Given the description of an element on the screen output the (x, y) to click on. 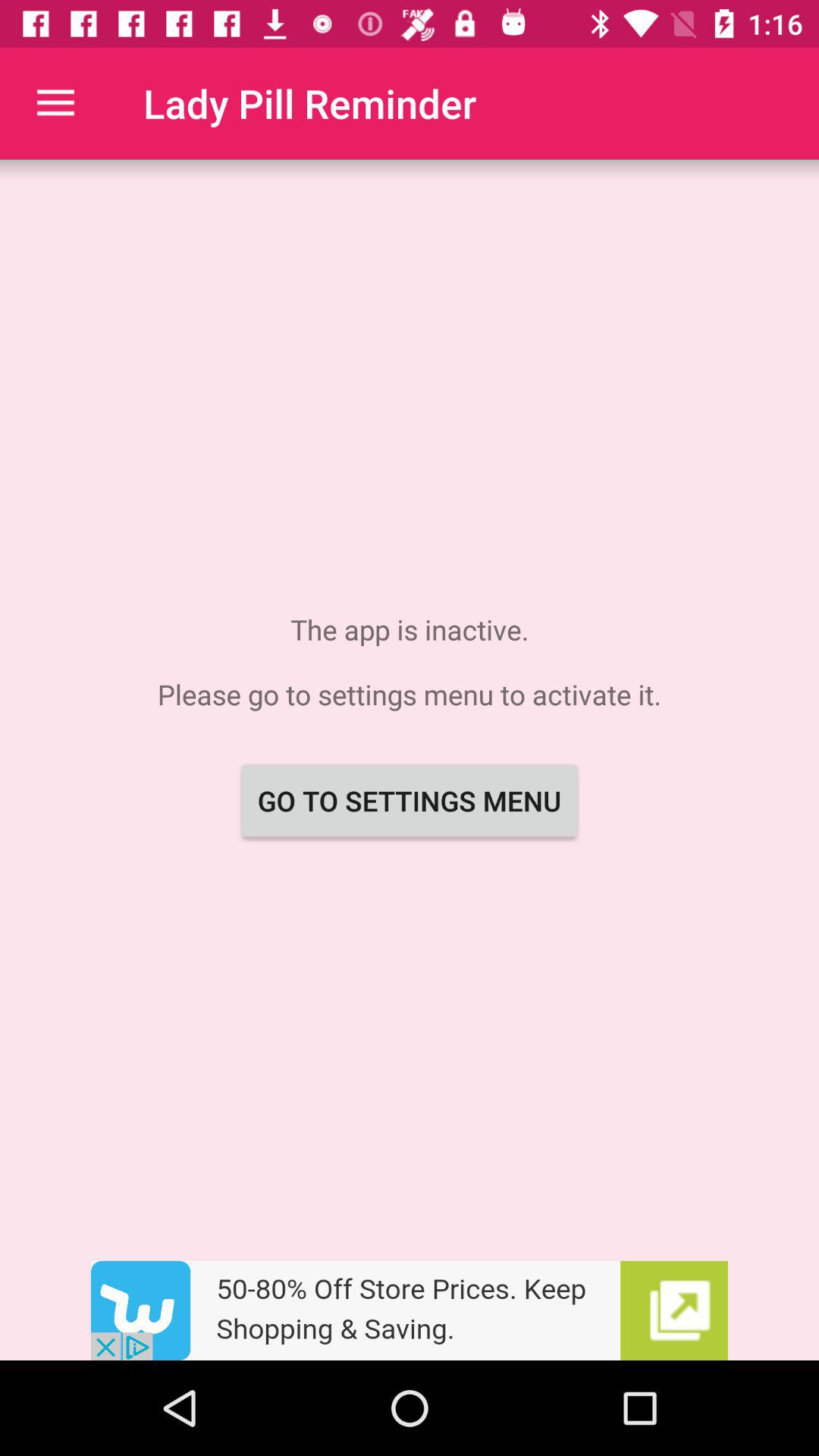
select advertisement (409, 1310)
